Given the description of an element on the screen output the (x, y) to click on. 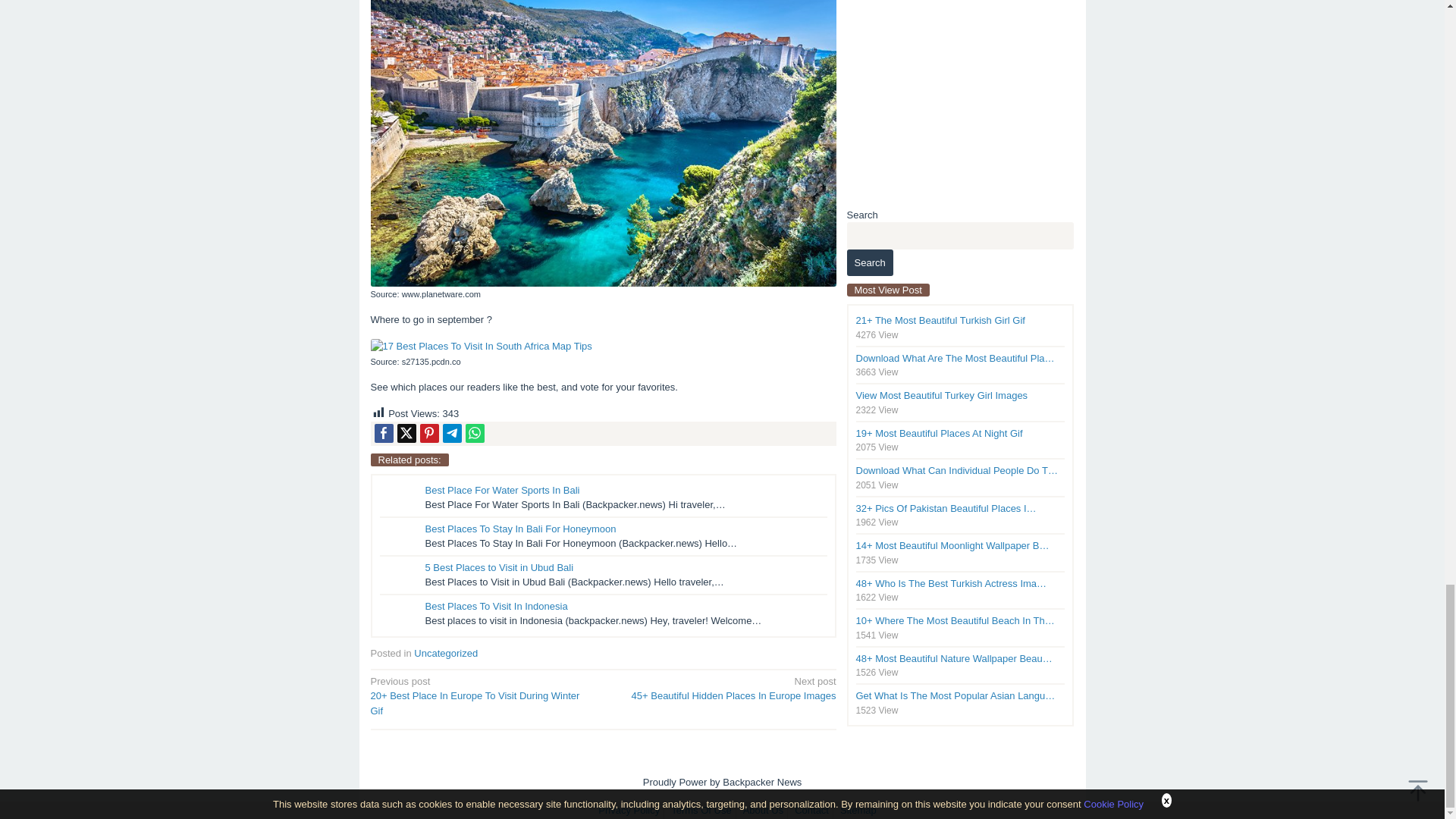
Best Places To Visit In Indonesia (496, 605)
Whatsapp (474, 433)
Permalink to: Best Place For Water Sports In Bali (502, 490)
Best Place For Water Sports In Bali (502, 490)
Permalink to: Best Places To Visit In Indonesia (496, 605)
Telegram Share (451, 433)
Permalink to: 5 Best Places to Visit in Ubud Bali (499, 567)
Tweet this (406, 433)
Pin this (429, 433)
Permalink to: Best Places To Stay In Bali For Honeymoon (520, 528)
